Given the description of an element on the screen output the (x, y) to click on. 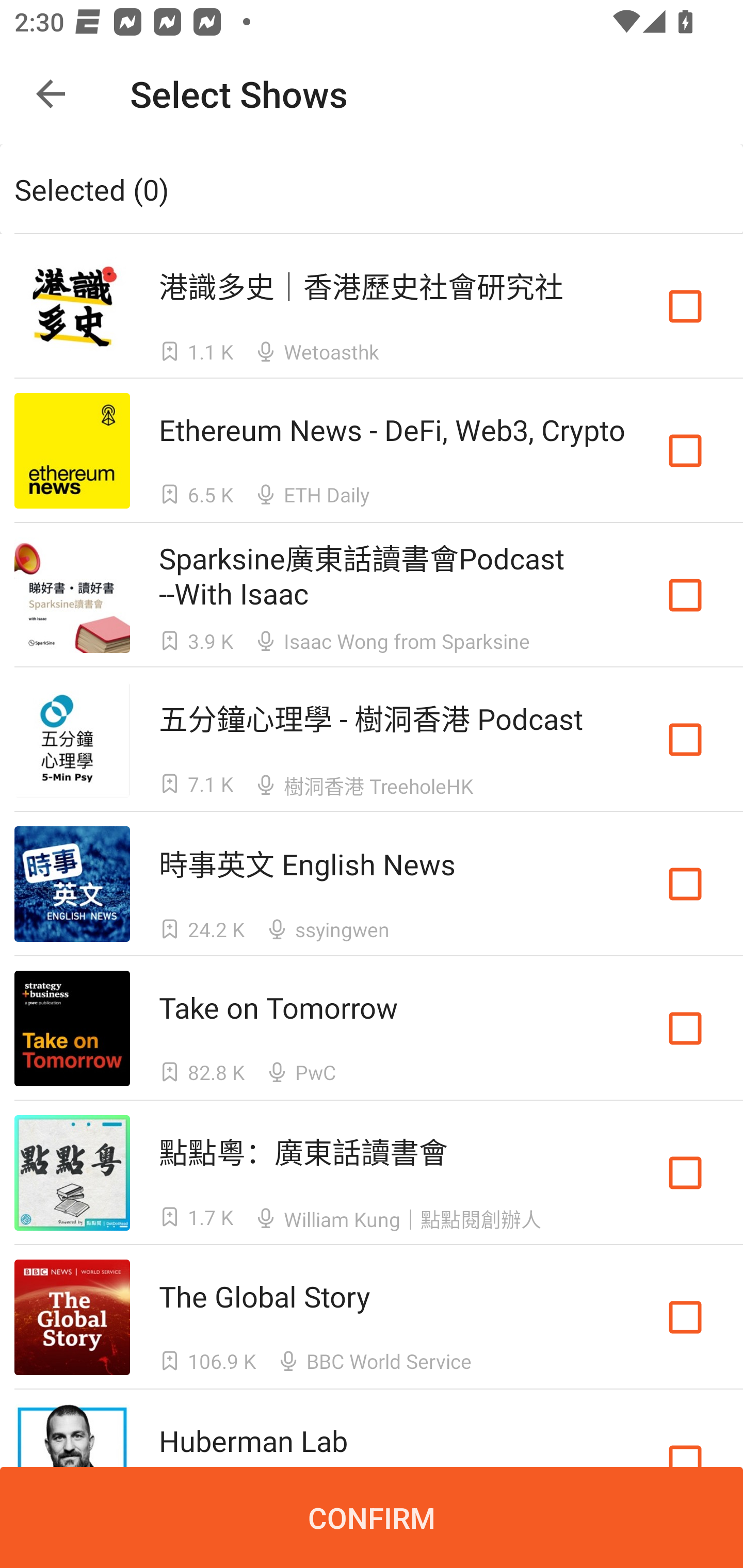
Navigate up (50, 93)
港識多史｜香港歷史社會研究社 港識多史｜香港歷史社會研究社  1.1 K  Wetoasthk (371, 305)
Take on Tomorrow Take on Tomorrow  82.8 K  PwC (371, 1028)
CONFIRM (371, 1517)
